Given the description of an element on the screen output the (x, y) to click on. 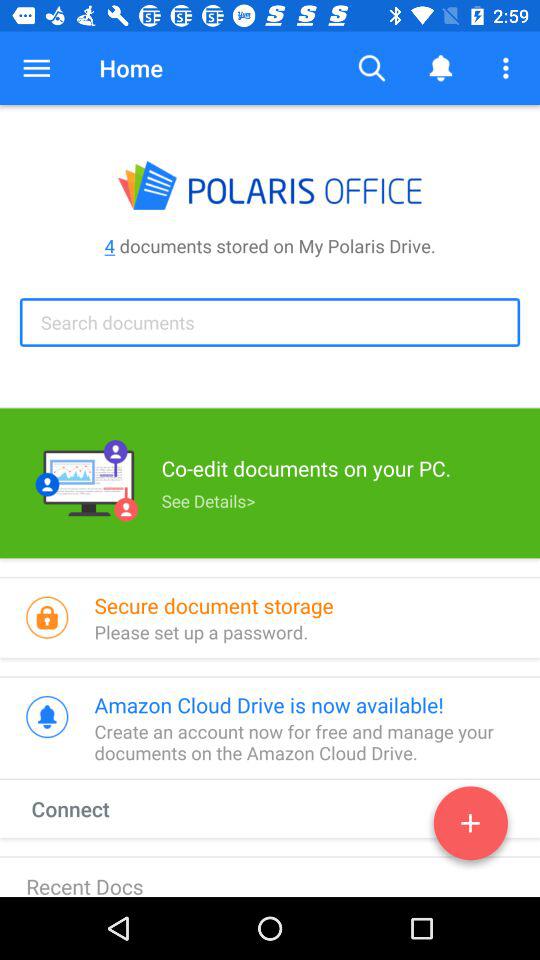
choose item above the recent docs item (89, 808)
